Given the description of an element on the screen output the (x, y) to click on. 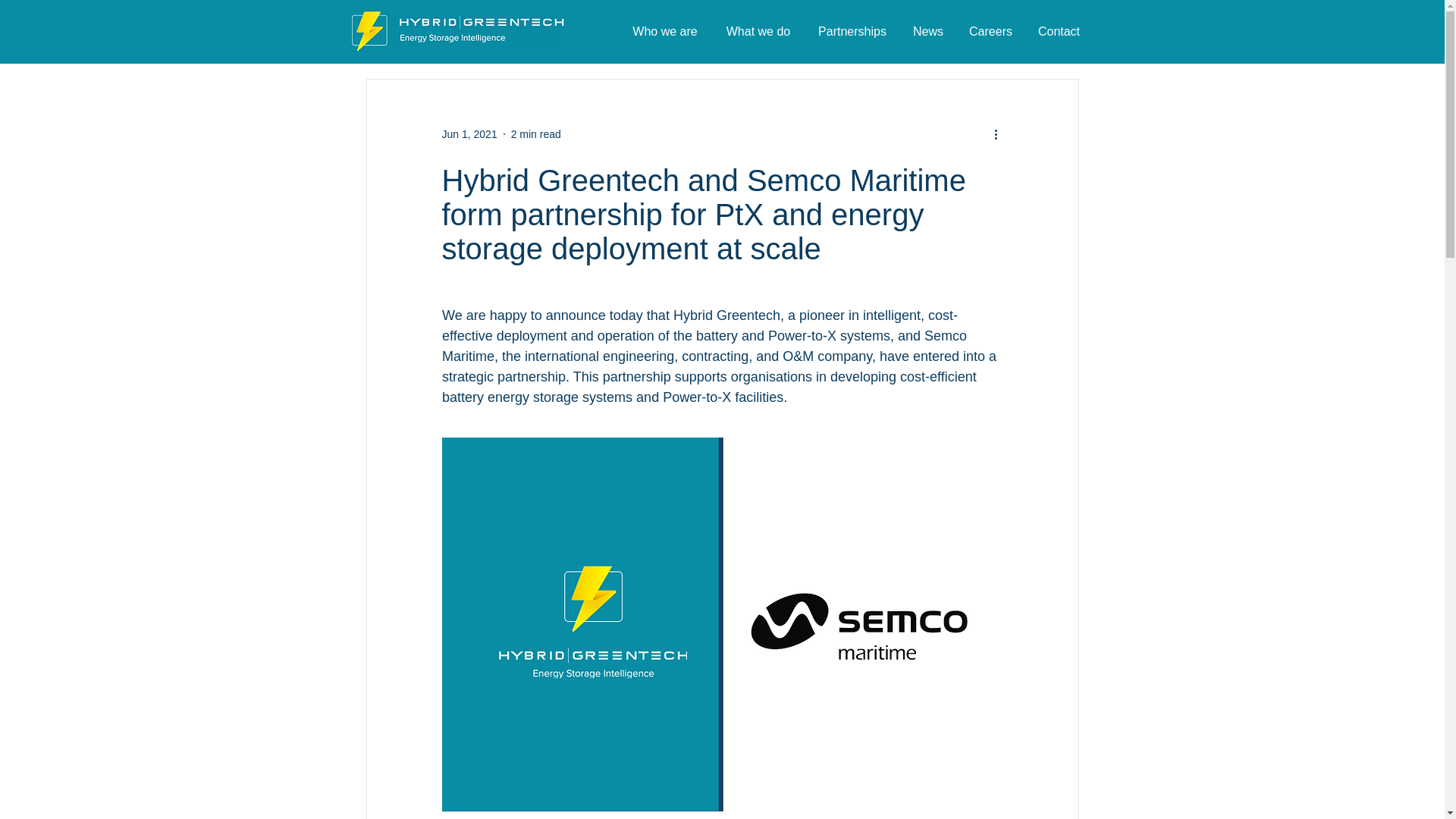
Partnerships (852, 31)
2 min read (535, 133)
Jun 1, 2021 (468, 133)
News (927, 31)
Contact (1059, 31)
Careers (990, 31)
